Given the description of an element on the screen output the (x, y) to click on. 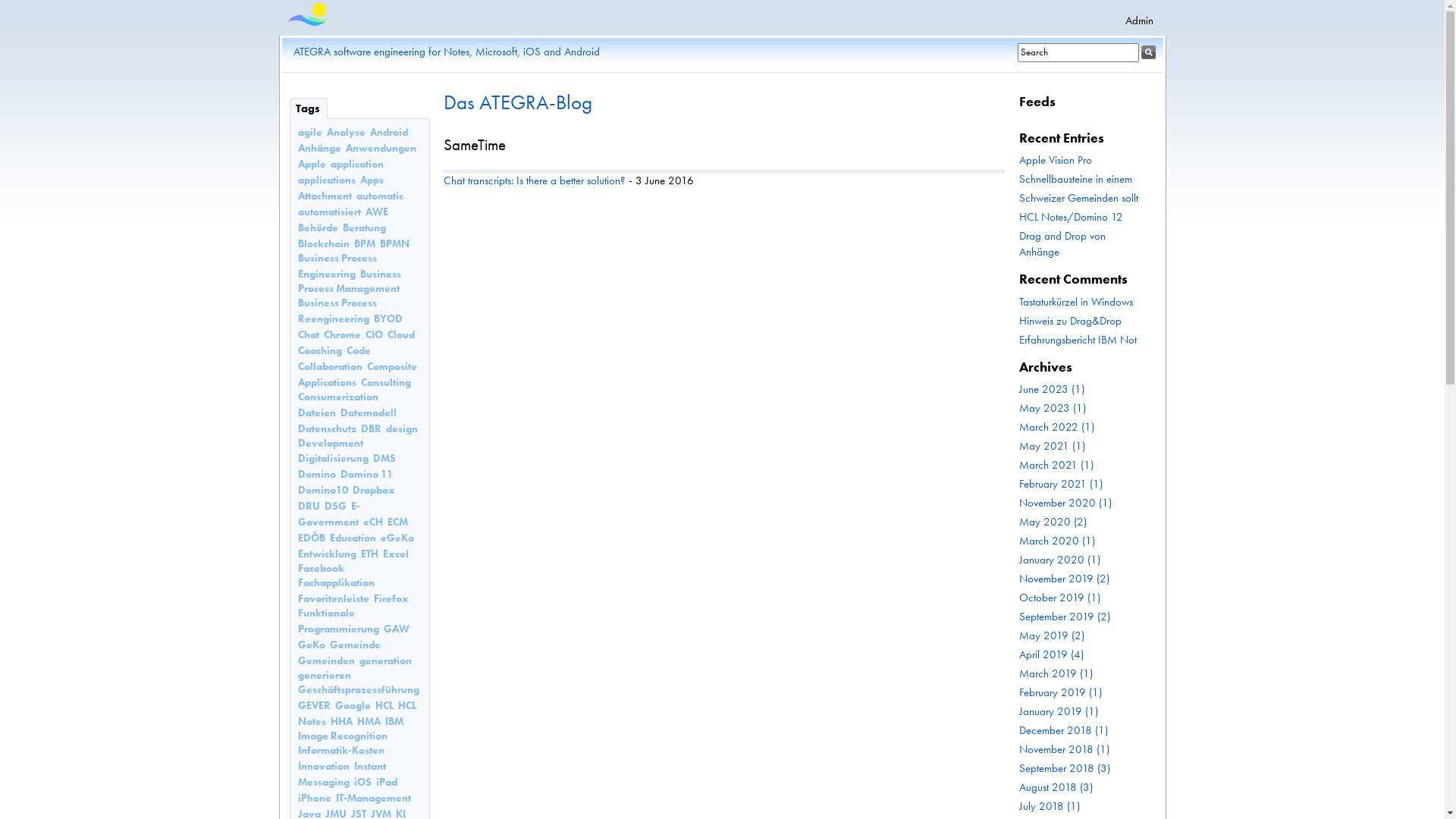
iPhone Element type: text (313, 797)
Entwicklung Element type: text (326, 553)
October 2019 (1) Element type: text (1059, 597)
Apple Vision Pro Element type: text (1055, 159)
February 2021 (1) Element type: text (1060, 483)
November 2019 (2) Element type: text (1064, 578)
Android Element type: text (388, 131)
application Element type: text (356, 163)
Gemeinde Element type: text (354, 644)
DRU Element type: text (308, 505)
December 2018 (1) Element type: text (1063, 729)
Domino Element type: text (316, 473)
Anwendungen Element type: text (380, 147)
HCL Element type: text (383, 705)
Datenschutz Element type: text (326, 428)
Das ATEGRA-Blog Element type: text (516, 101)
HCL Notes Element type: text (356, 713)
eCH Element type: text (372, 521)
agile Element type: text (309, 131)
IBM Element type: text (394, 721)
DBR Element type: text (370, 428)
Datemodell Element type: text (367, 412)
Tags Element type: text (308, 107)
March 2020 (1) Element type: text (1057, 540)
iOS Element type: text (361, 781)
applications Element type: text (325, 179)
Excel Element type: text (394, 553)
Gemeinden Element type: text (325, 660)
ETH Element type: text (369, 553)
July 2018 (1) Element type: text (1049, 805)
generation Element type: text (385, 660)
CIO Element type: text (373, 334)
Hinweis zu Drag&Drop Element type: text (1070, 320)
Schnellbausteine in einem Element type: text (1075, 178)
Innovation Element type: text (322, 765)
Code Element type: text (357, 350)
January 2019 (1) Element type: text (1058, 710)
November 2018 (1) Element type: text (1064, 748)
Coaching Element type: text (319, 350)
Digitalisierung Element type: text (332, 457)
Composite Applications Element type: text (356, 374)
Fachapplikation Element type: text (335, 582)
Attachment Element type: text (324, 195)
IT-Management Element type: text (372, 797)
May 2021 (1) Element type: text (1052, 445)
Image Recognition Element type: text (341, 735)
May 2020 (2) Element type: text (1052, 521)
Search Element type: hover (1078, 52)
HHA Element type: text (341, 721)
automatisiert Element type: text (328, 211)
June 2023 (1) Element type: text (1051, 388)
November 2020 (1) Element type: text (1065, 502)
Admin Element type: text (1139, 20)
Dateien Element type: text (316, 412)
AWE Element type: text (376, 211)
January 2020 (1) Element type: text (1059, 559)
Business Process Management Element type: text (348, 280)
March 2021 (1) Element type: text (1056, 464)
Apps Element type: text (370, 179)
Cloud Element type: text (400, 334)
HMA Element type: text (367, 721)
GAW Element type: text (396, 628)
Dropbox Element type: text (372, 489)
Consumerization Element type: text (337, 396)
Instant Messaging Element type: text (341, 773)
May 2019 (2) Element type: text (1051, 635)
Schweizer Gemeinden sollt Element type: text (1078, 197)
Collaboration Element type: text (329, 366)
Business Process Engineering Element type: text (336, 265)
generieren Element type: text (323, 674)
Blockchain Element type: text (322, 243)
ECM Element type: text (396, 521)
Facebook Element type: text (320, 567)
Funktionale Programmierung Element type: text (337, 620)
automatic Element type: text (379, 195)
March 2019 (1) Element type: text (1055, 672)
Business Process Reengineering Element type: text (336, 310)
GEVER Element type: text (313, 705)
Beratung Element type: text (363, 227)
September 2019 (2) Element type: text (1064, 616)
Analyse Element type: text (345, 131)
Apple Element type: text (311, 163)
Education Element type: text (352, 537)
Chat transcripts: Is there a better solution? Element type: text (533, 180)
Chat Element type: text (307, 334)
BPMN Element type: text (393, 243)
February 2019 (1) Element type: text (1060, 691)
Development Element type: text (329, 442)
HCL Notes/Domino 12 Element type: text (1071, 216)
March 2022 (1) Element type: text (1056, 426)
Chrome Element type: text (341, 334)
September 2018 (3) Element type: text (1064, 767)
DSG Element type: text (335, 505)
Google Element type: text (352, 705)
E-Government Element type: text (328, 513)
August 2018 (3) Element type: text (1055, 786)
design Element type: text (401, 428)
GeKo Element type: text (310, 644)
eGeKo Element type: text (397, 537)
iPad Element type: text (386, 781)
Favoritenleiste Element type: text (332, 598)
May 2023 (1) Element type: text (1052, 407)
DMS Element type: text (384, 457)
Erfahrungsbericht IBM Not Element type: text (1077, 339)
BYOD Element type: text (387, 318)
Firefox Element type: text (390, 598)
Informatik-Kosten Element type: text (340, 749)
Domino10 Element type: text (322, 489)
BPM Element type: text (363, 243)
Search Element type: hover (1147, 52)
Search Element type: hover (1084, 52)
Consulting Element type: text (385, 382)
April 2019 (4) Element type: text (1051, 654)
Domino 11 Element type: text (365, 473)
